Given the description of an element on the screen output the (x, y) to click on. 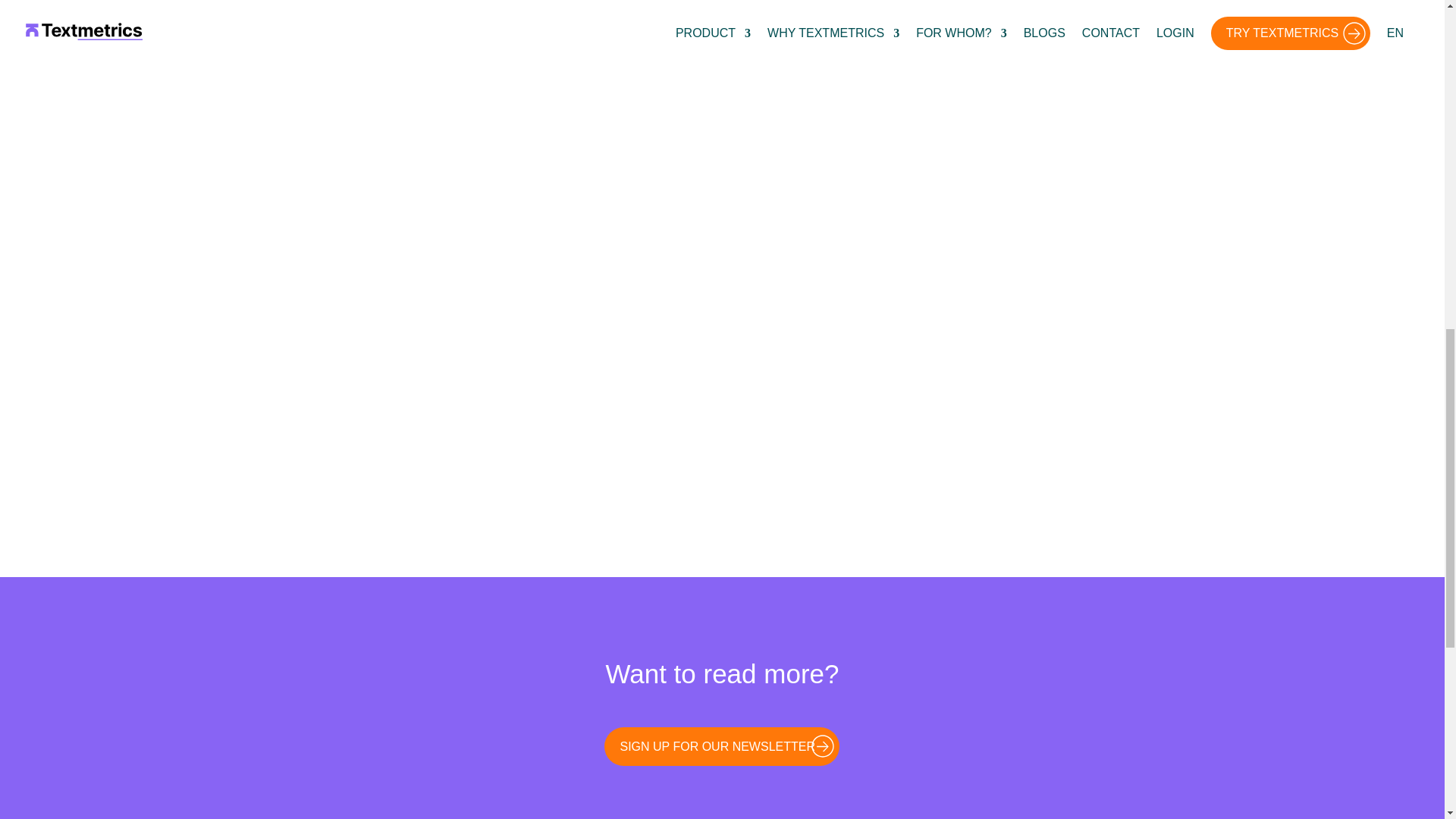
SIGN UP FOR OUR NEWSLETTER (722, 746)
